Given the description of an element on the screen output the (x, y) to click on. 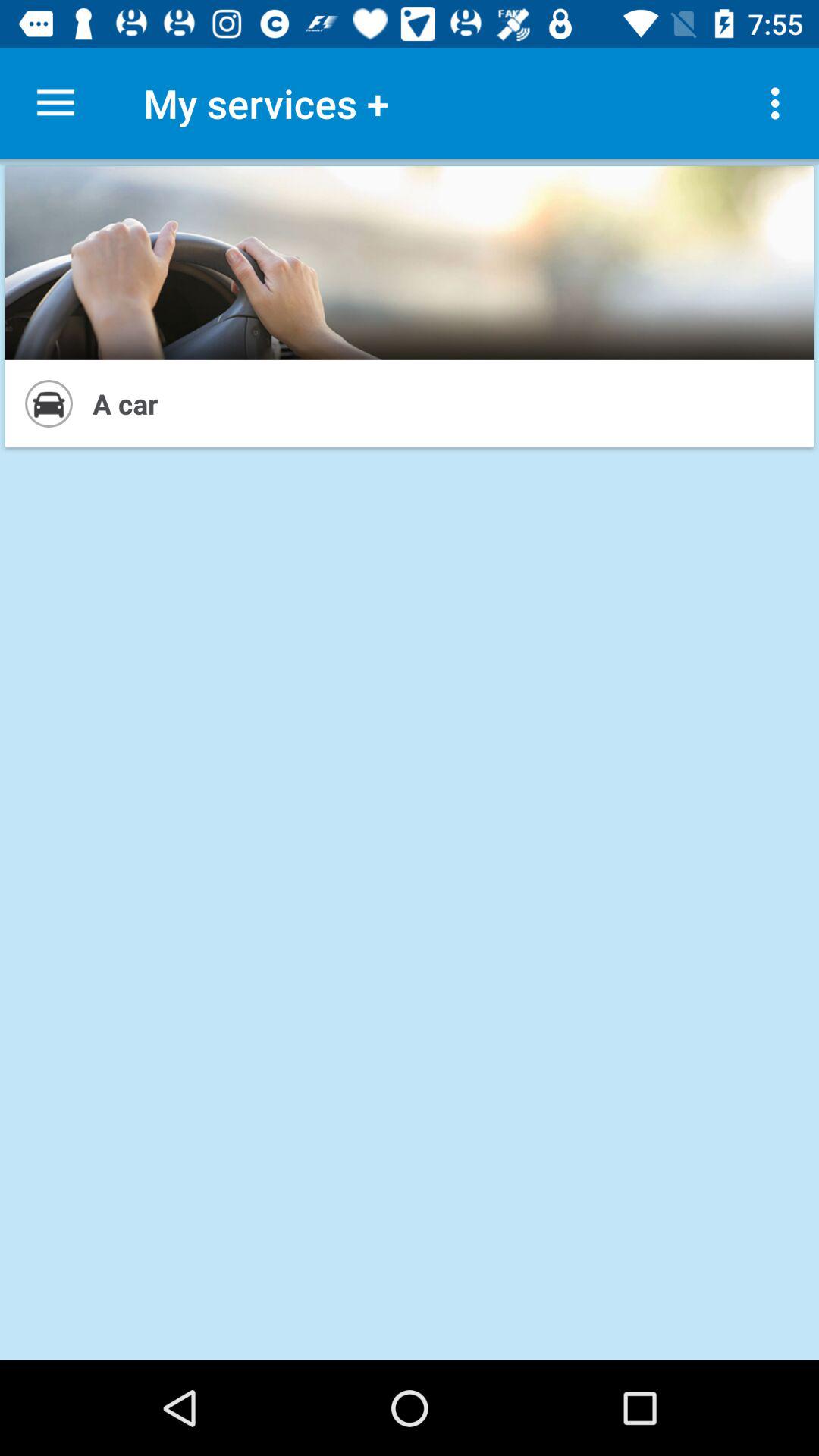
tap item next to my services + item (779, 103)
